Given the description of an element on the screen output the (x, y) to click on. 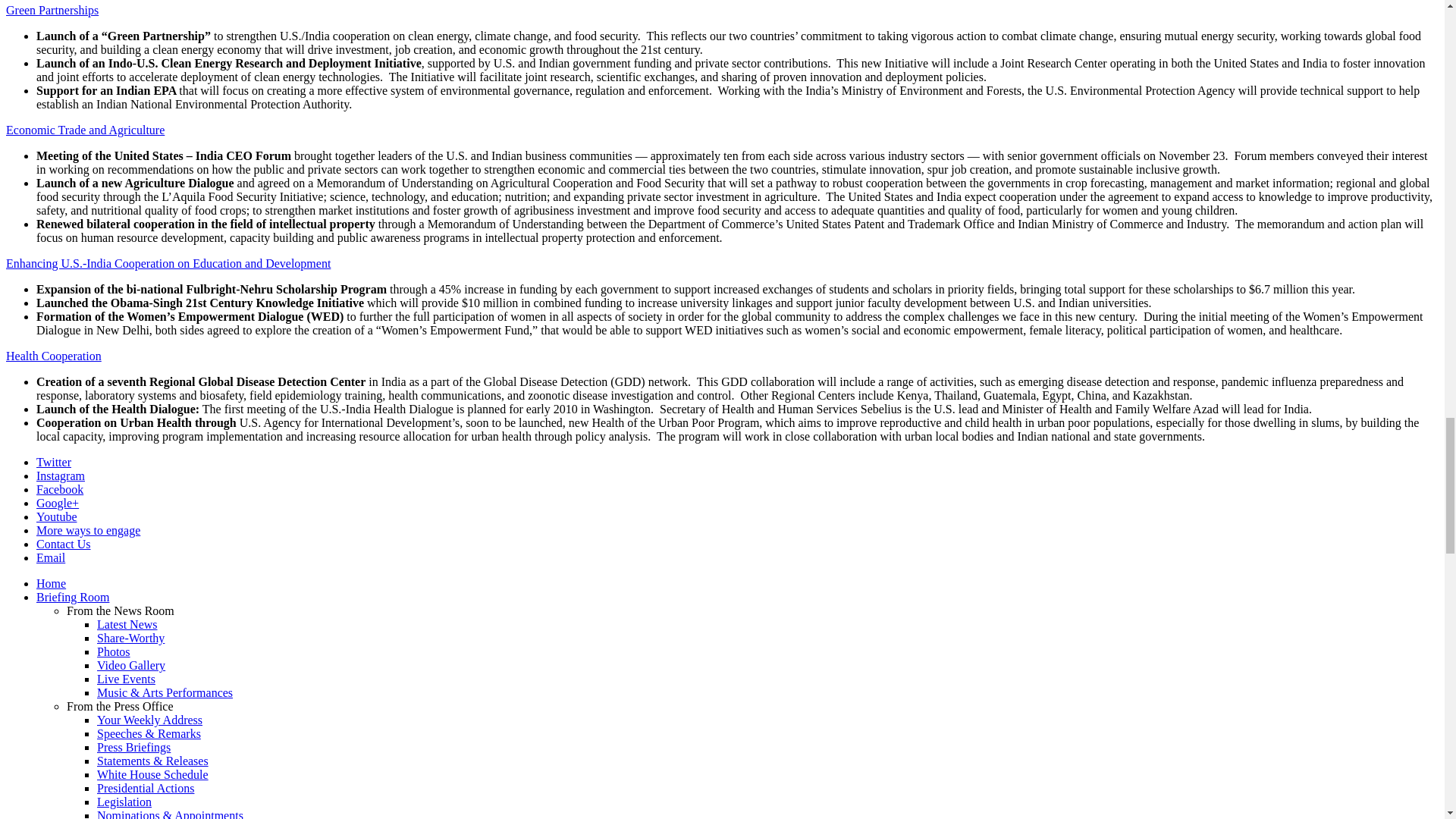
Visit The Whitehouse Channel on Youtube. (56, 516)
Read the latest blog posts from 1600 Pennsylvania Ave (127, 624)
More ways to engage with the Whitehouse. (87, 530)
Watch behind-the-scenes videos and more (131, 665)
Follow the Whitehouse on Twitter. (53, 461)
View the photo of the day and other galleries (114, 651)
Contact the Whitehouse. (63, 543)
See the Whitehouse on Instagram. (60, 475)
Check out the most popular infographics and videos (130, 637)
Like the Whitehouse on Facebook. (59, 489)
